Given the description of an element on the screen output the (x, y) to click on. 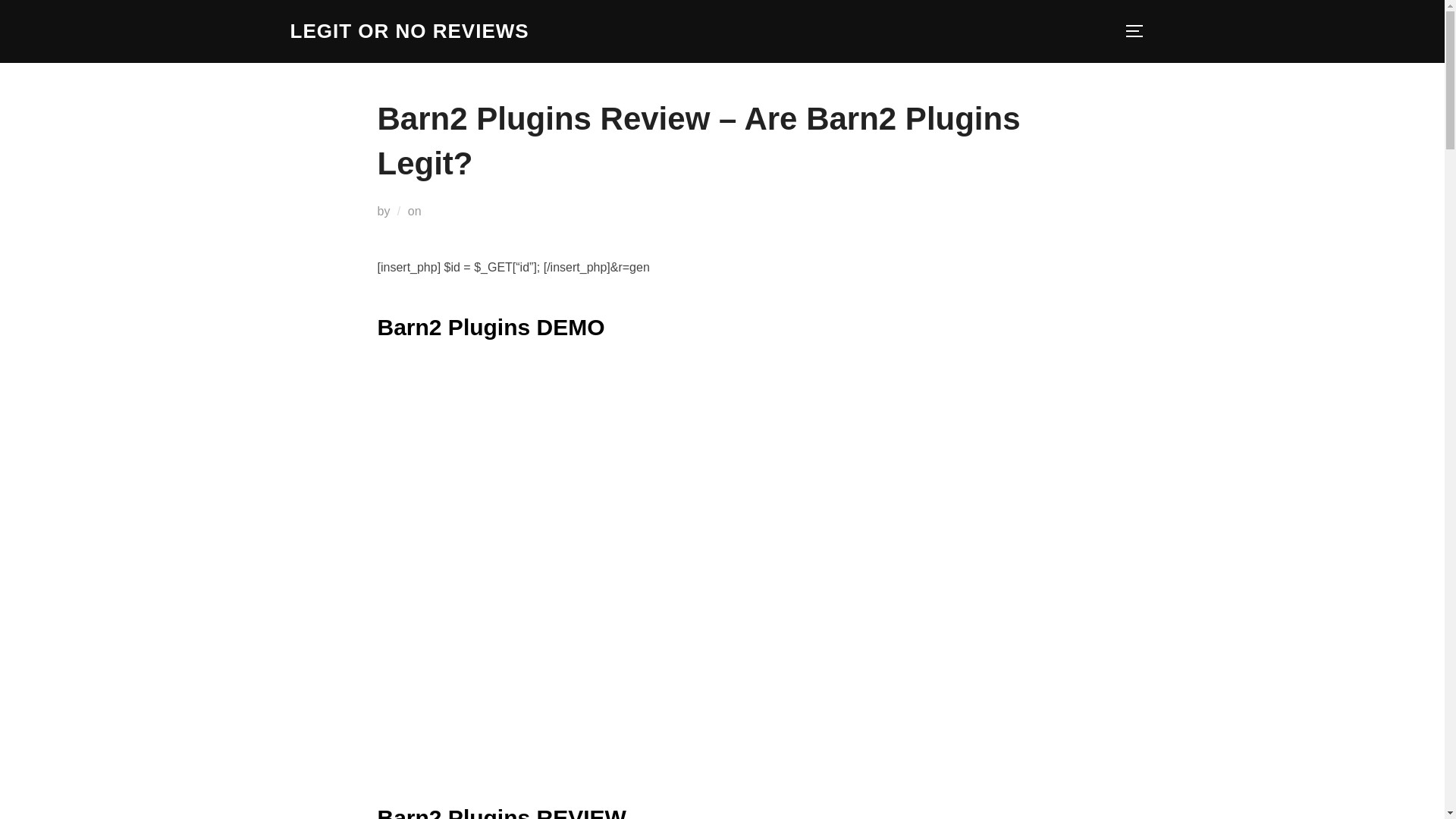
LEGIT OR NO REVIEWS (408, 31)
